Given the description of an element on the screen output the (x, y) to click on. 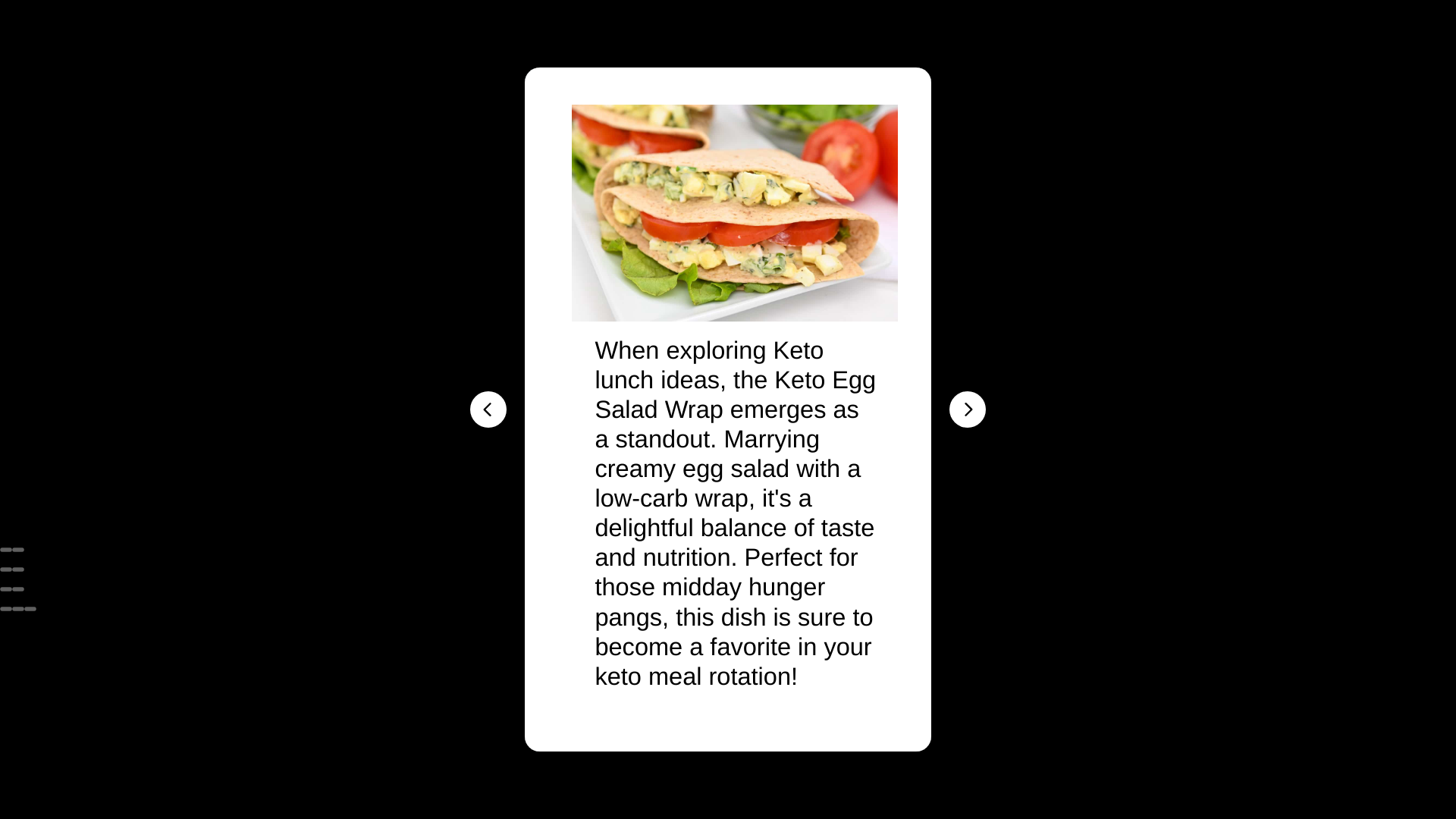
EverydayKetogenic.com (726, 320)
